Given the description of an element on the screen output the (x, y) to click on. 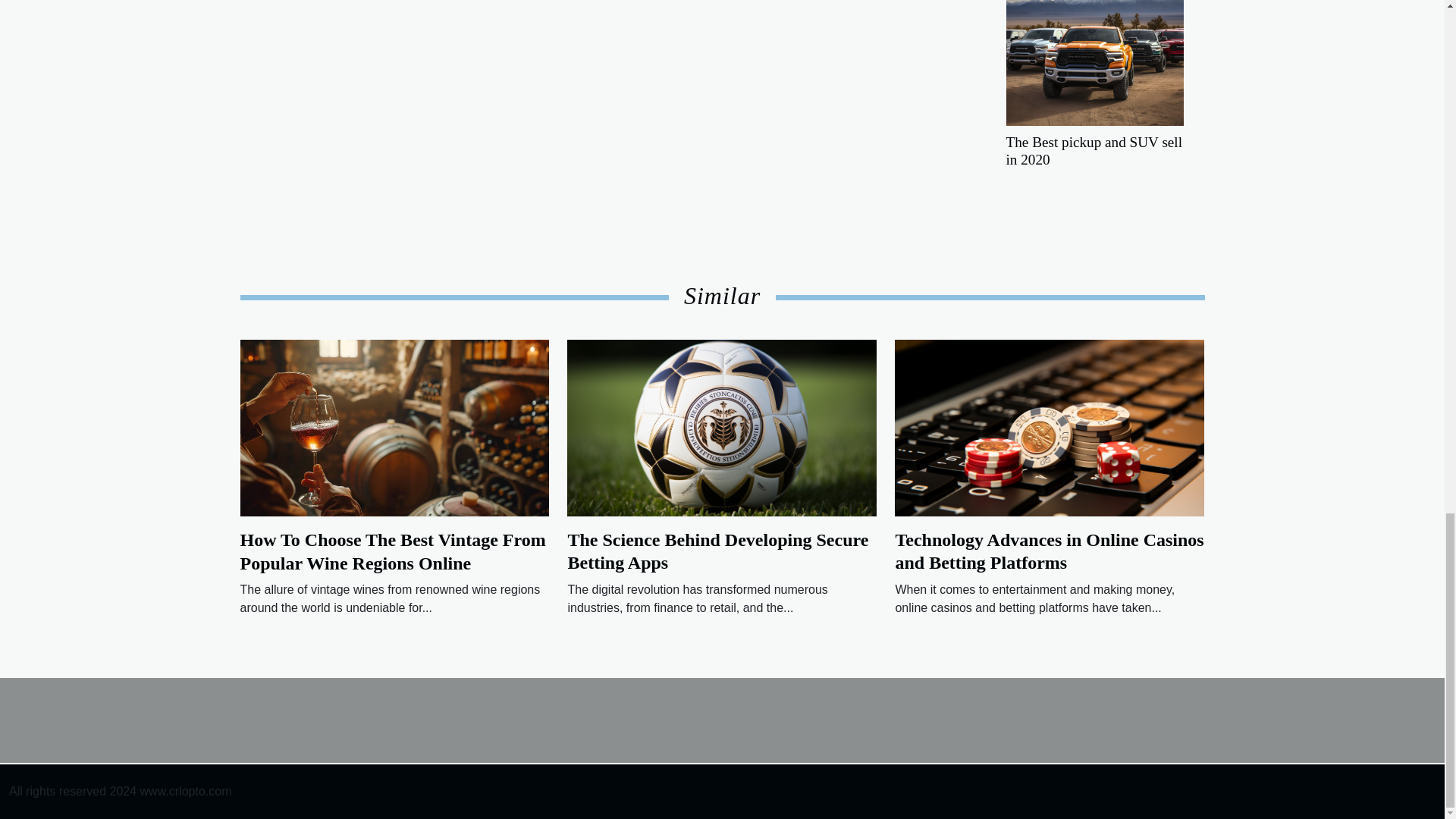
Technology Advances in Online Casinos and Betting Platforms (1049, 550)
The Science Behind Developing Secure Betting Apps (717, 550)
Technology Advances in Online Casinos and Betting Platforms (1049, 550)
The Best pickup and SUV sell in 2020 (1094, 48)
Technology Advances in Online Casinos and Betting Platforms (1049, 427)
The Science Behind Developing Secure Betting Apps (717, 550)
The Best pickup and SUV sell in 2020 (1094, 150)
The Science Behind Developing Secure Betting Apps (721, 427)
